Given the description of an element on the screen output the (x, y) to click on. 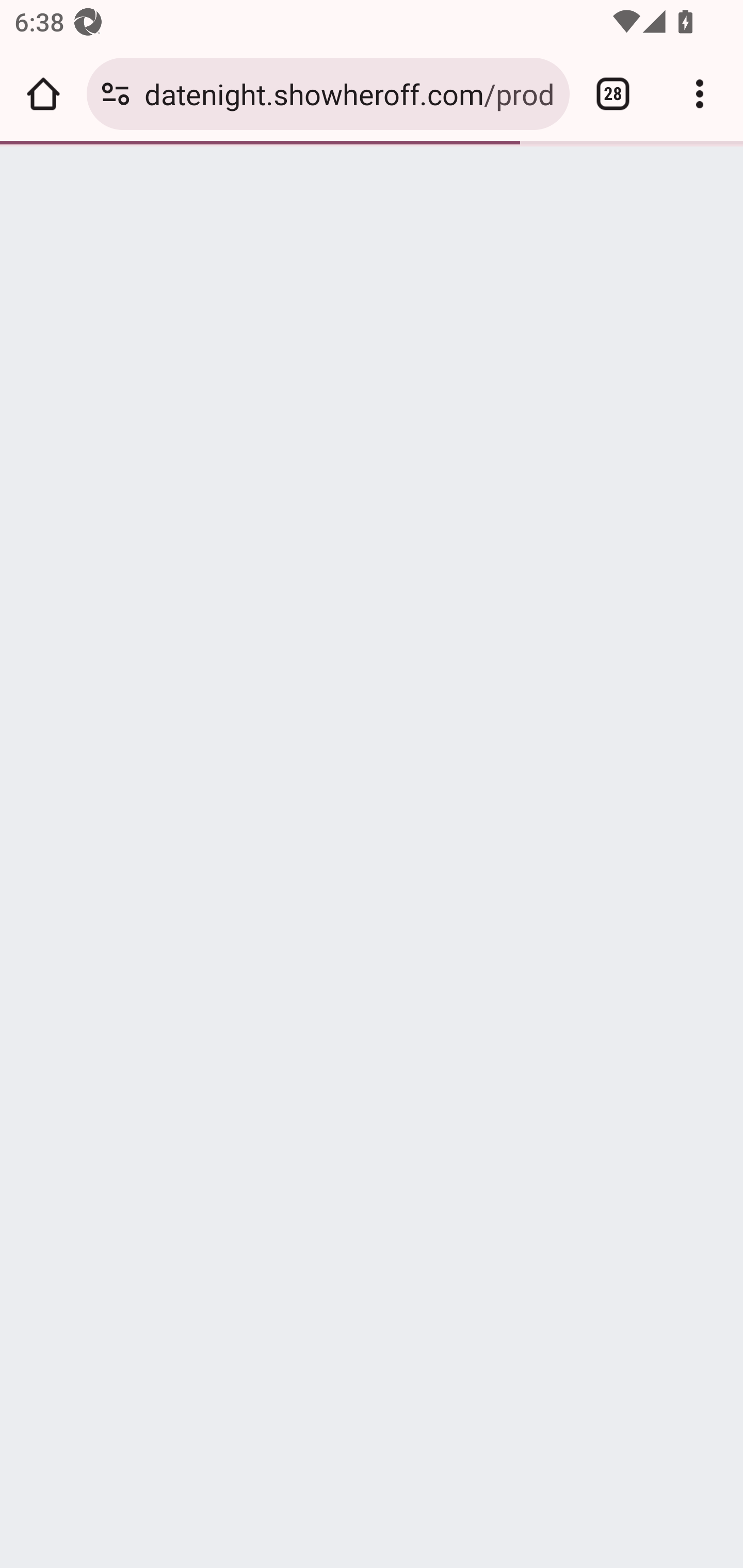
Open the home page (43, 93)
Connection is secure (115, 93)
Switch or close tabs (612, 93)
Customize and control Google Chrome (699, 93)
